Given the description of an element on the screen output the (x, y) to click on. 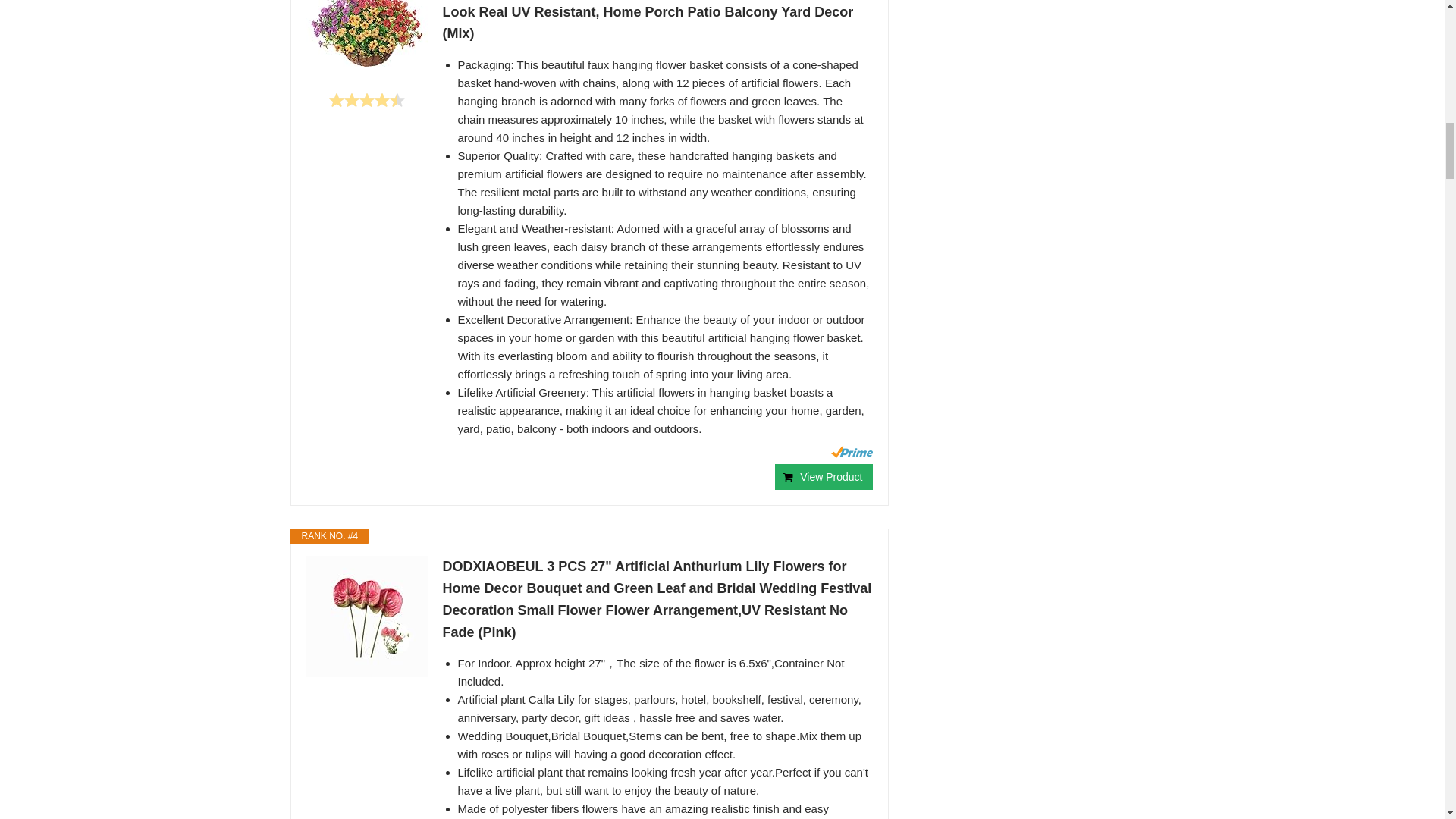
Reviews on Amazon (366, 99)
Amazon Prime (851, 451)
